Given the description of an element on the screen output the (x, y) to click on. 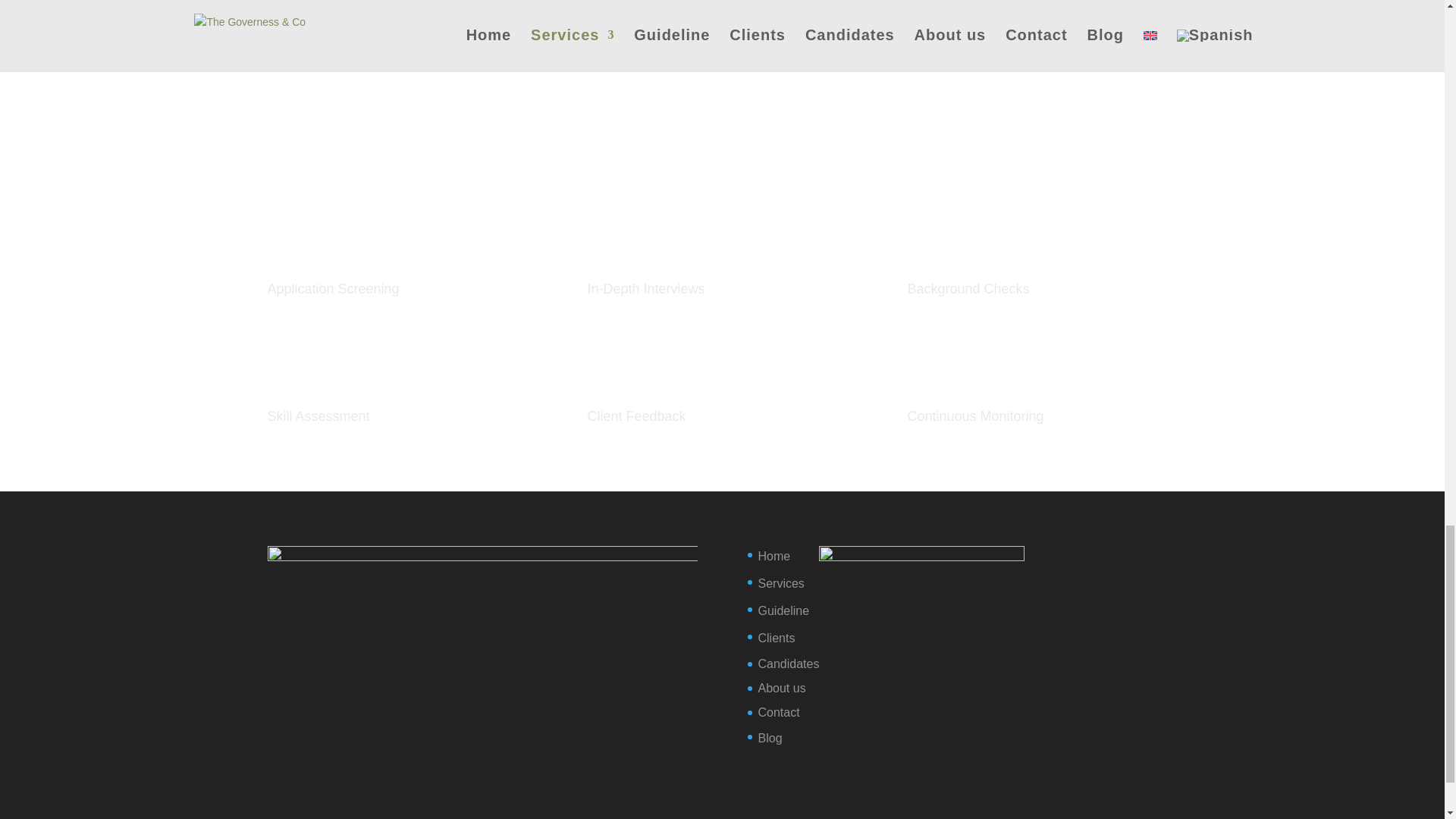
Contact (778, 712)
Blog (770, 738)
Guideline (783, 610)
Home (774, 555)
Services (781, 583)
Candidates (788, 663)
About us (782, 687)
Clients (776, 637)
